Given the description of an element on the screen output the (x, y) to click on. 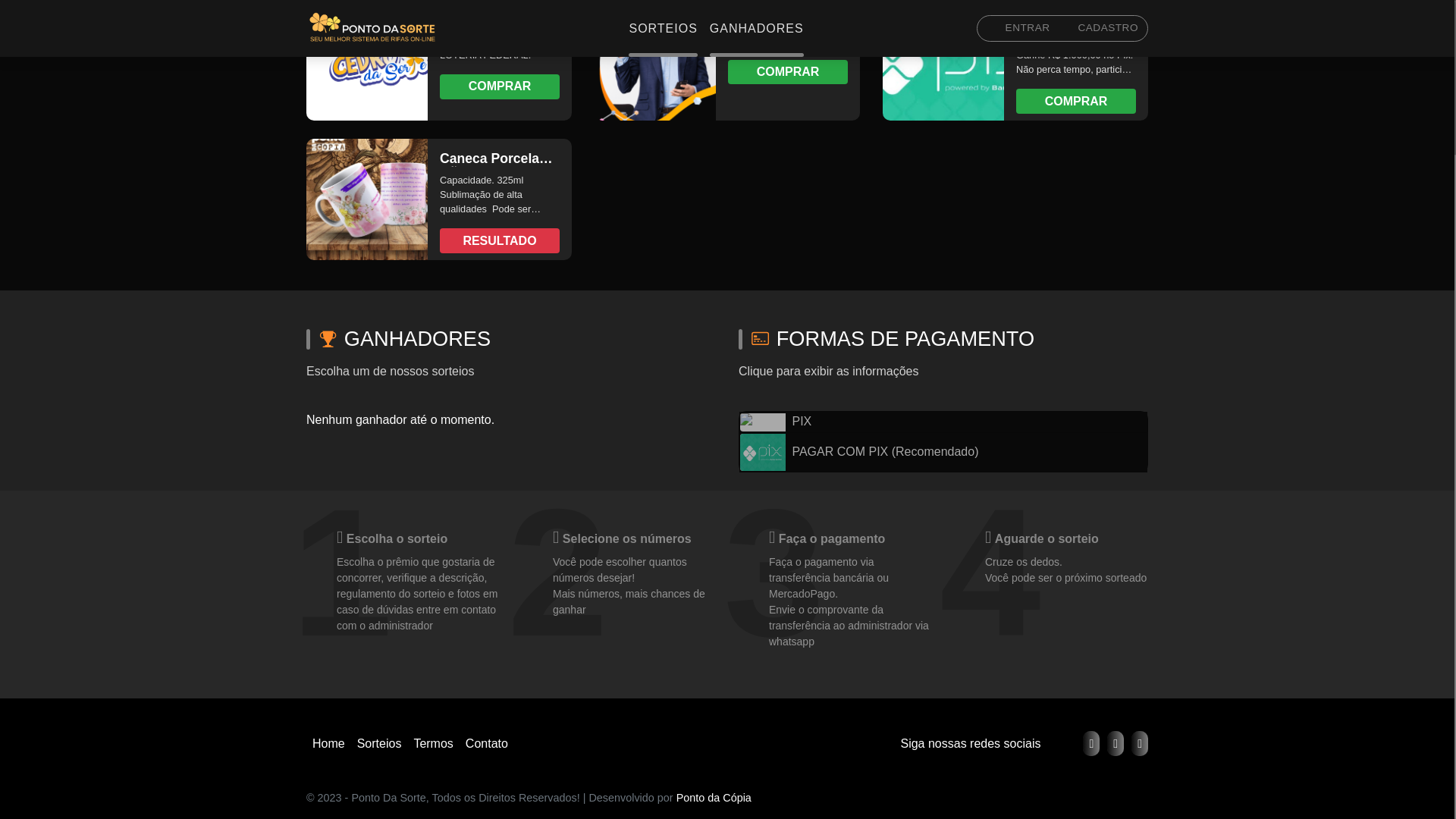
Sorteios (378, 743)
Home (327, 743)
Contato (486, 743)
PIX (943, 421)
Cedro.BET (379, 60)
Termos (432, 743)
